Given the description of an element on the screen output the (x, y) to click on. 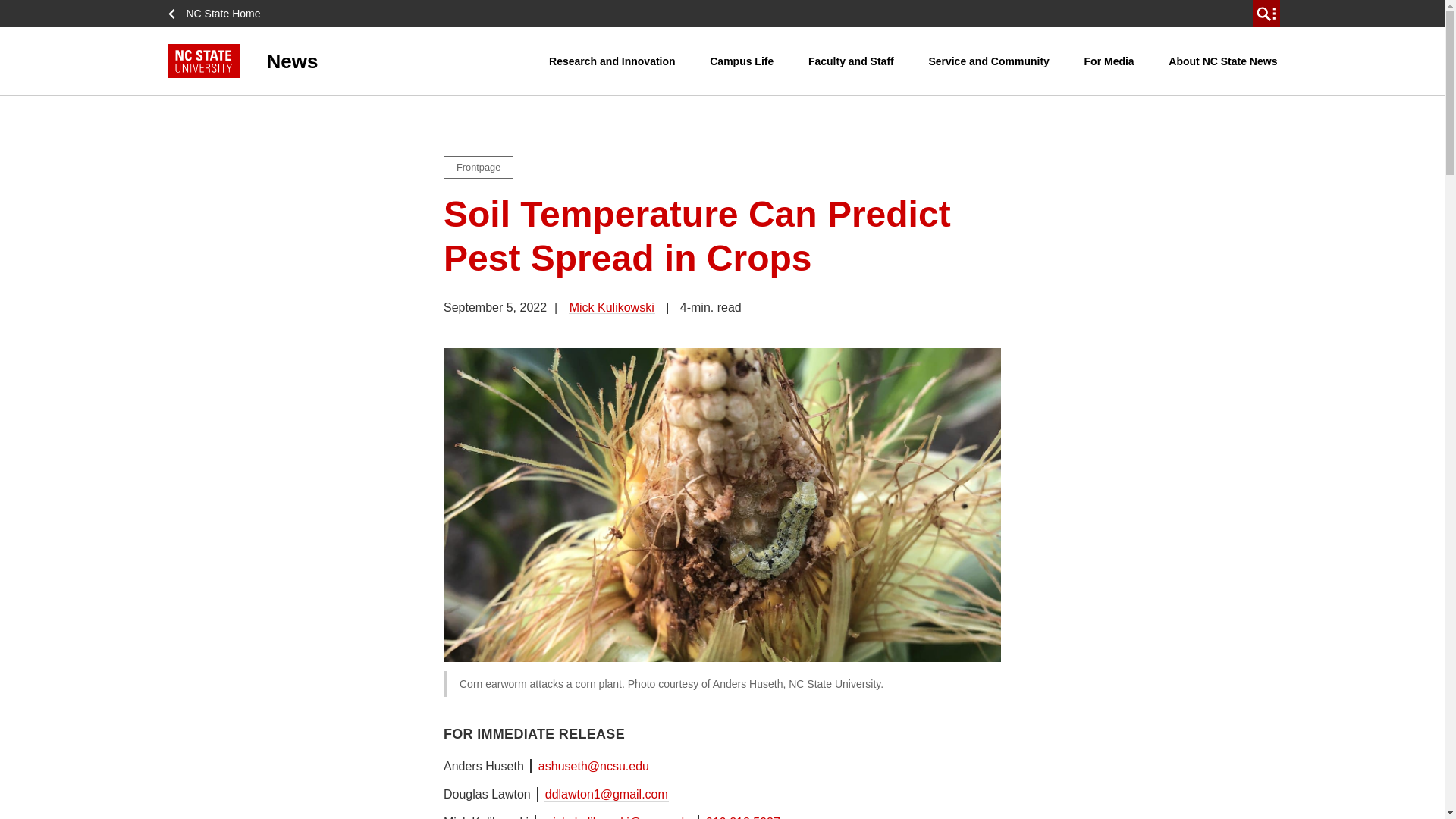
News (357, 61)
Posts by Mick Kulikowski (612, 307)
NC State Home (217, 13)
Faculty and Staff (851, 61)
Campus Life (741, 61)
Service and Community (989, 61)
Research and Innovation (611, 61)
